Given the description of an element on the screen output the (x, y) to click on. 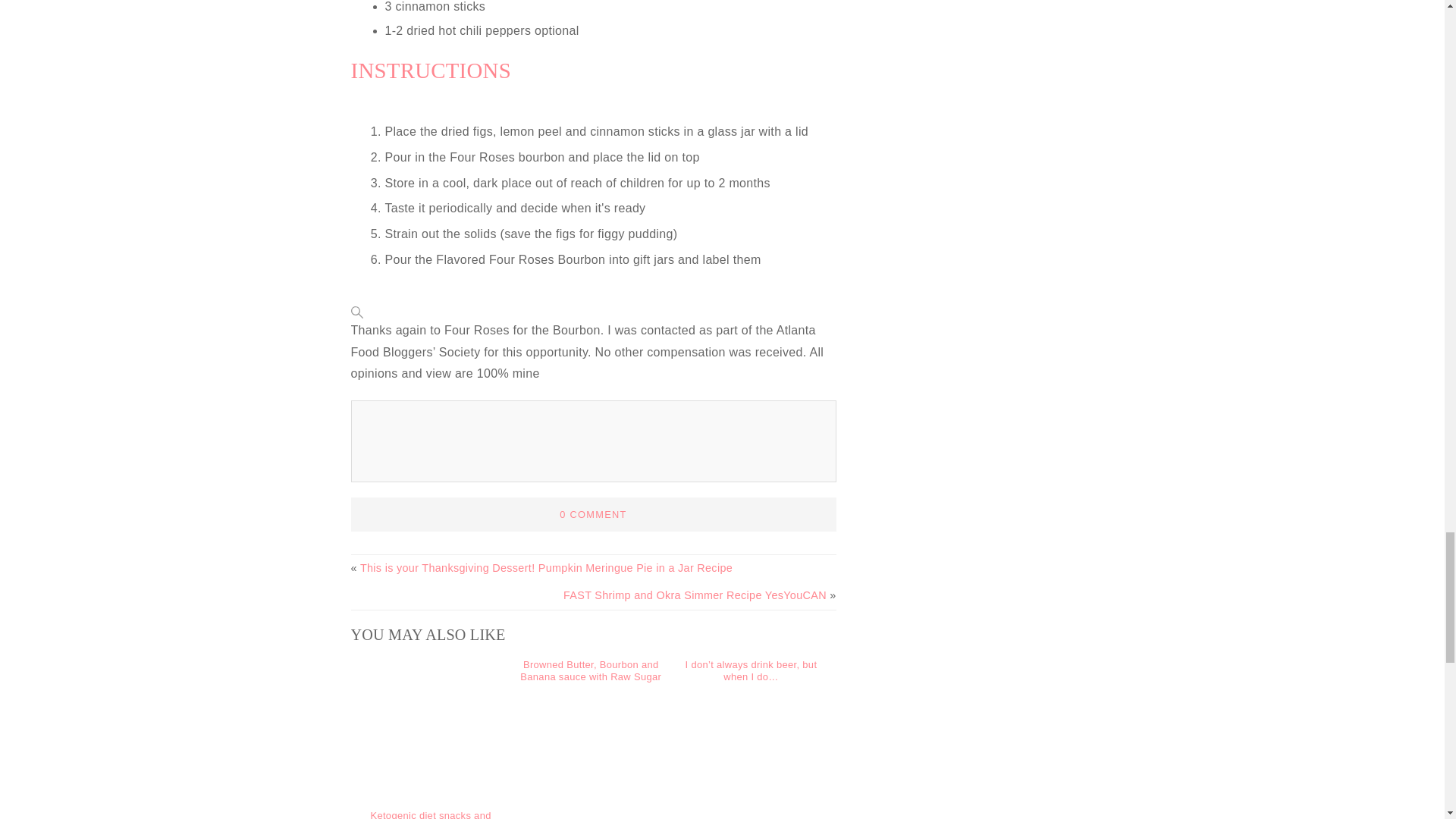
Browned Butter, Bourbon and Banana sauce with Raw Sugar (590, 670)
Ketogenic diet snacks and movie night in bed (429, 814)
FAST Shrimp and Okra Simmer Recipe YesYouCAN (695, 594)
0 COMMENT (592, 514)
